Given the description of an element on the screen output the (x, y) to click on. 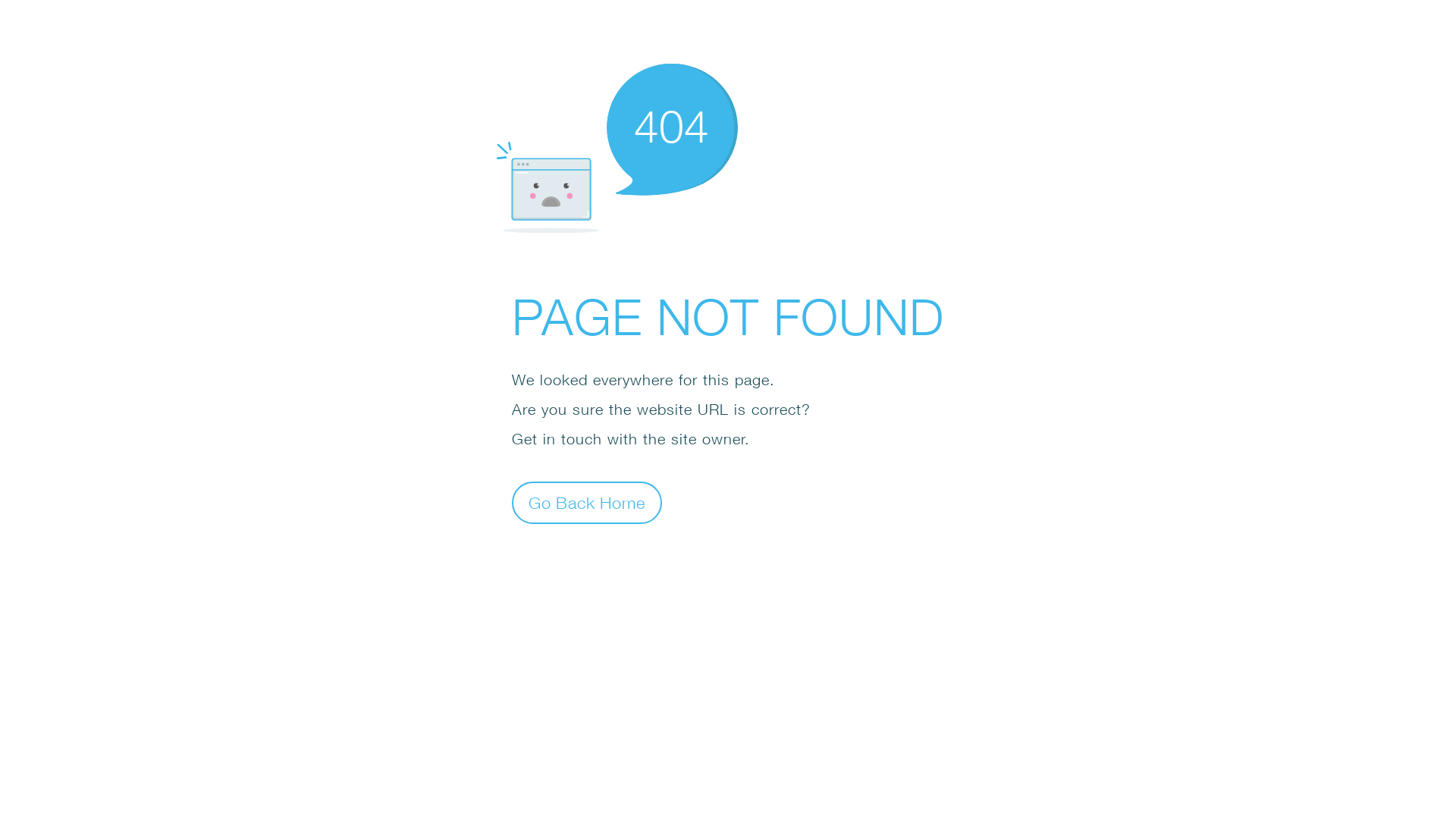
Go Back Home Element type: text (586, 502)
